Given the description of an element on the screen output the (x, y) to click on. 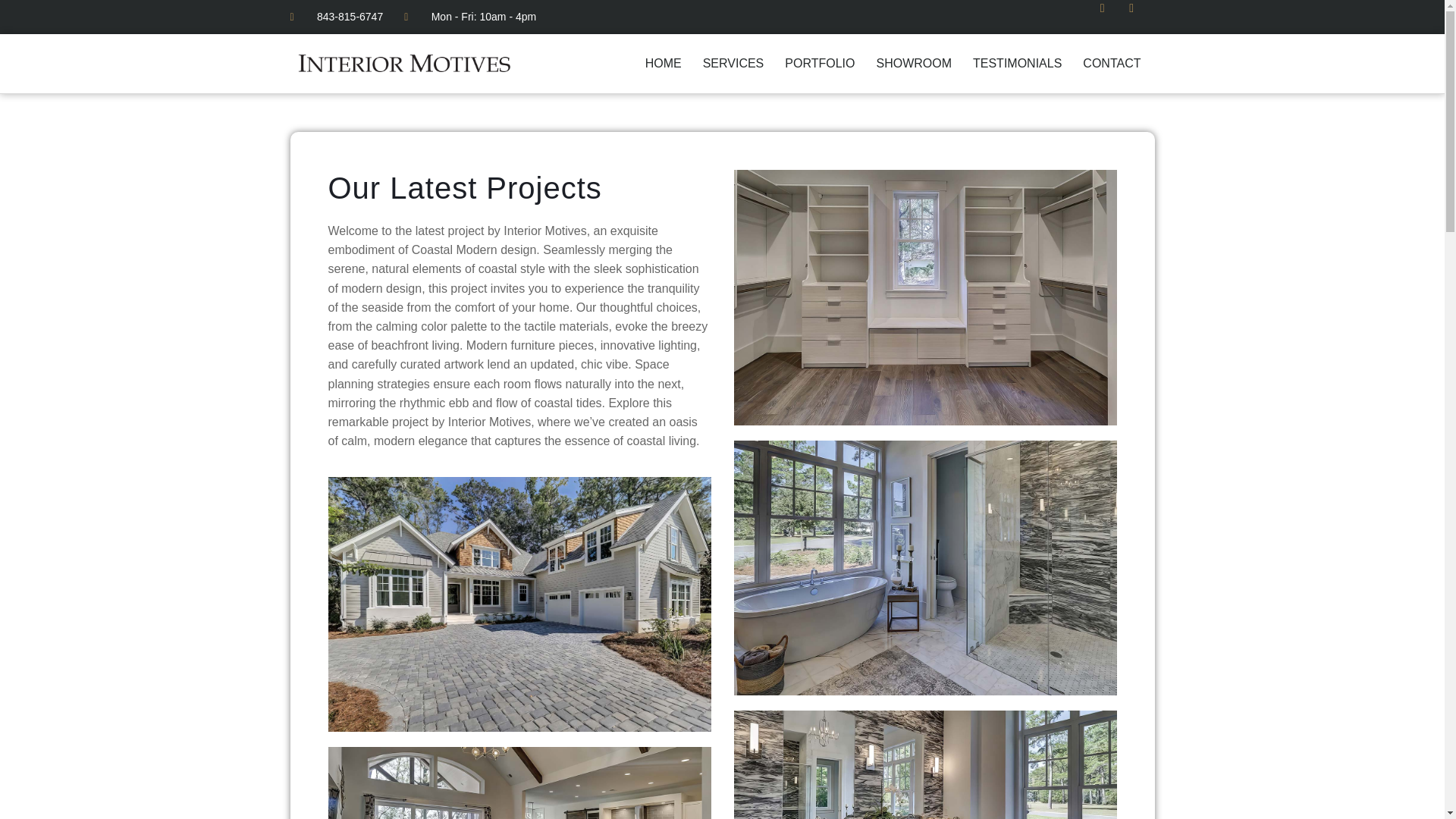
SHOWROOM (913, 63)
CONTACT (1112, 63)
PORTFOLIO (819, 63)
SERVICES (733, 63)
HOME (663, 63)
TESTIMONIALS (1016, 63)
